Given the description of an element on the screen output the (x, y) to click on. 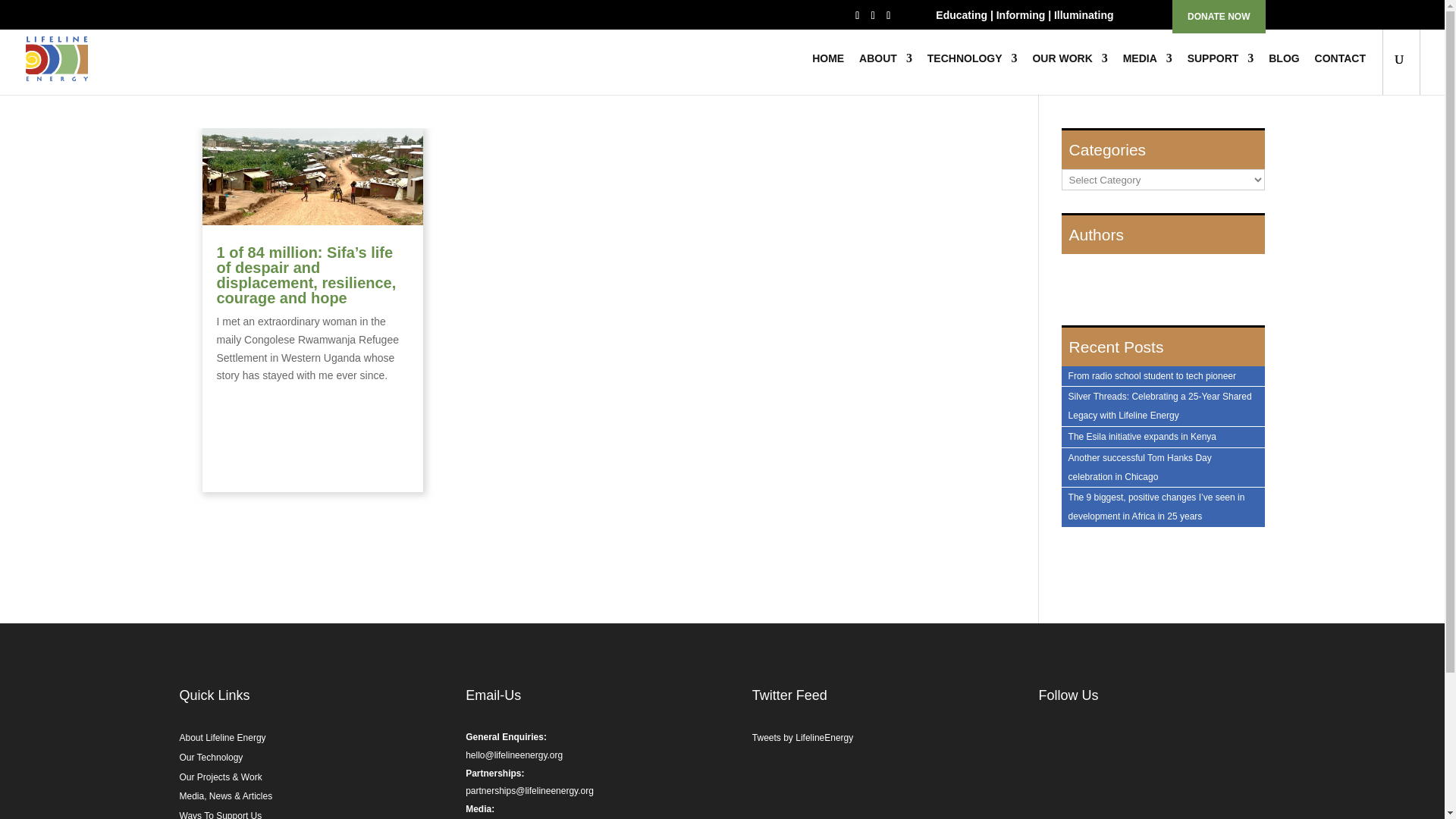
ABOUT (885, 73)
MEDIA (1147, 73)
TECHNOLOGY (972, 73)
DONATE NOW (1218, 16)
OUR WORK (1069, 73)
